Given the description of an element on the screen output the (x, y) to click on. 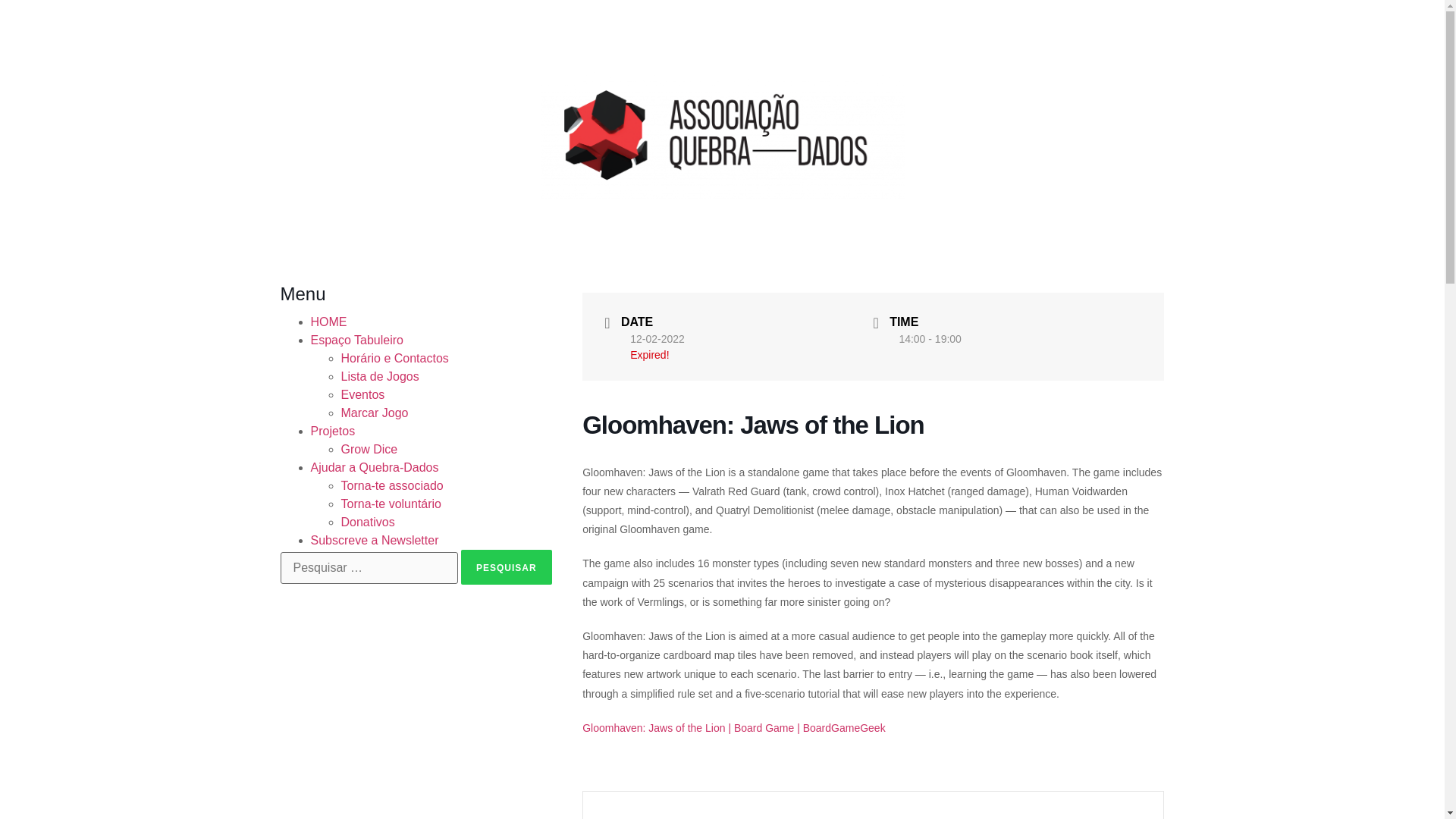
Torna-te associado (392, 485)
Eventos (362, 394)
Grow Dice (368, 449)
Ajudar a Quebra-Dados (375, 467)
Pesquisar (506, 566)
Pesquisar (506, 566)
911592121 (724, 818)
Pesquisar (506, 566)
HOME (329, 321)
Subscreve a Newsletter (375, 540)
Donativos (367, 521)
Marcar Jogo (374, 412)
Projetos (333, 431)
Lista de Jogos (379, 376)
